Given the description of an element on the screen output the (x, y) to click on. 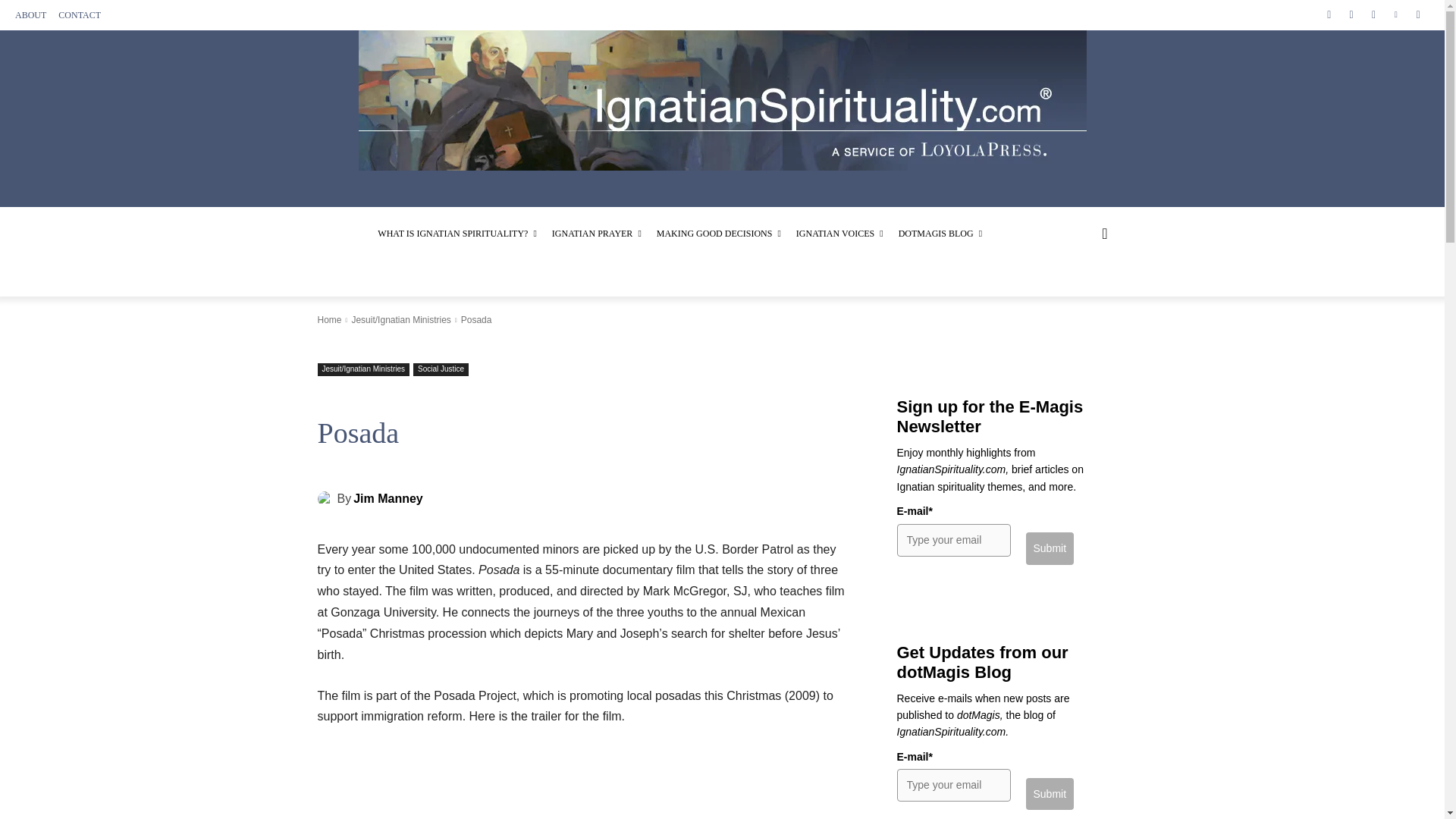
Vimeo (1395, 14)
Instagram (1350, 14)
CONTACT (79, 15)
ABOUT (30, 15)
Facebook (1328, 14)
Youtube (1418, 14)
Twitter (1373, 14)
